Given the description of an element on the screen output the (x, y) to click on. 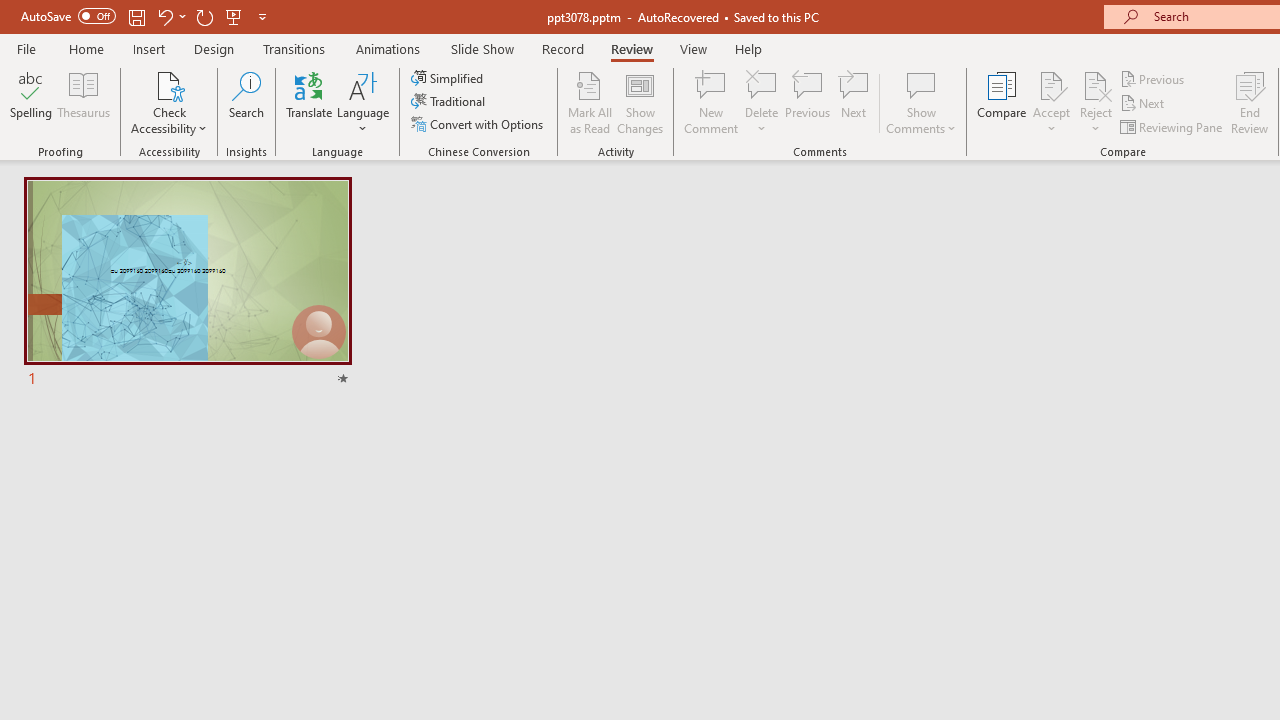
Translate (309, 102)
Mark All as Read (589, 102)
Accept Change (1051, 84)
Show Comments (921, 102)
Show Changes (639, 102)
Delete (762, 84)
Spelling... (31, 102)
